Given the description of an element on the screen output the (x, y) to click on. 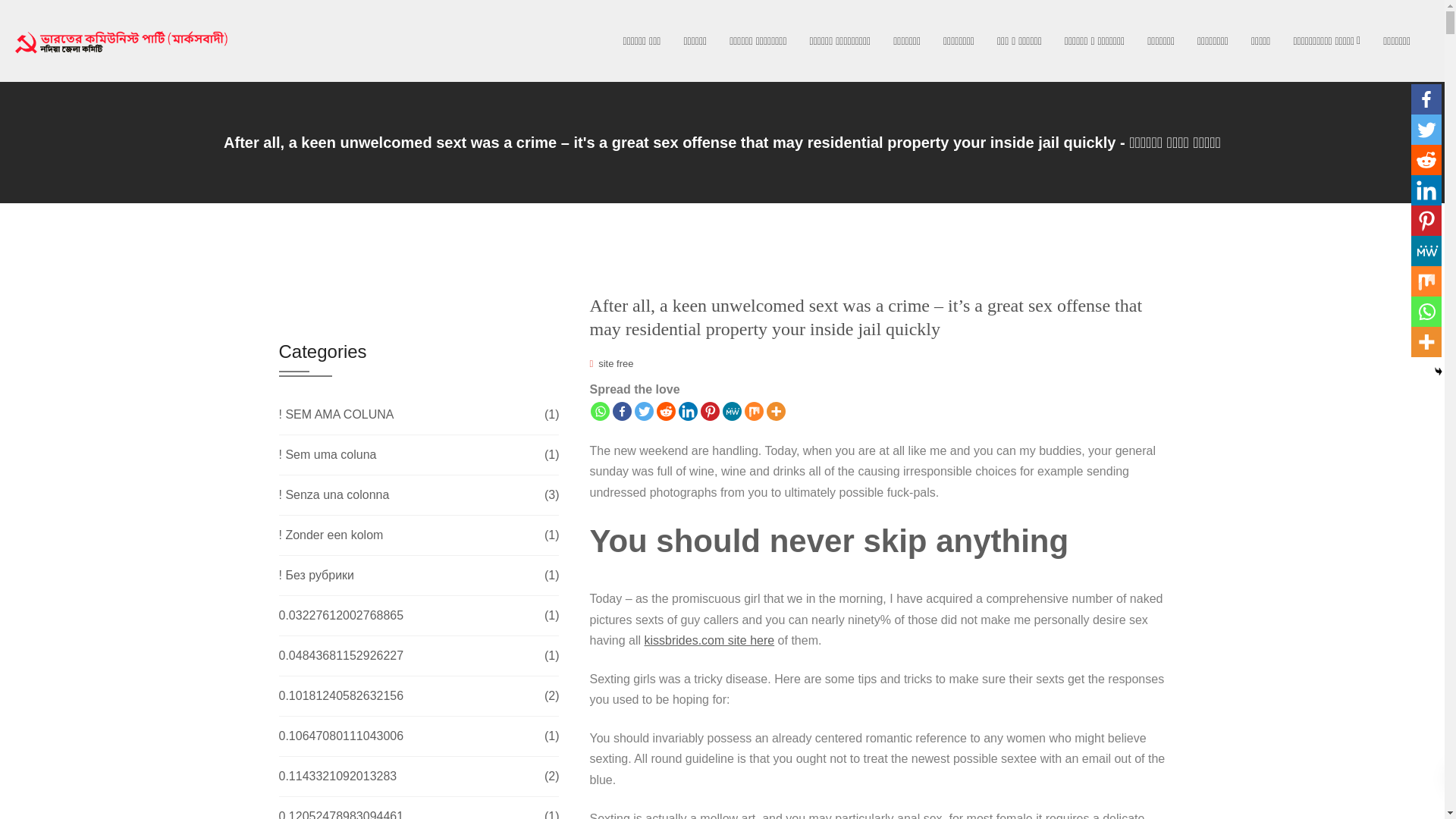
Twitter (1425, 129)
Whatsapp (600, 411)
! Senza una colonna (334, 494)
0.04843681152926227 (341, 655)
0.10181240582632156 (341, 695)
Facebook (1425, 99)
Facebook (621, 411)
MeWe (731, 411)
More (776, 411)
! Zonder een kolom (331, 535)
Reddit (1425, 159)
MeWe (1425, 250)
Linkedin (687, 411)
! Sem uma coluna (328, 454)
! SEM AMA COLUNA (336, 414)
